Given the description of an element on the screen output the (x, y) to click on. 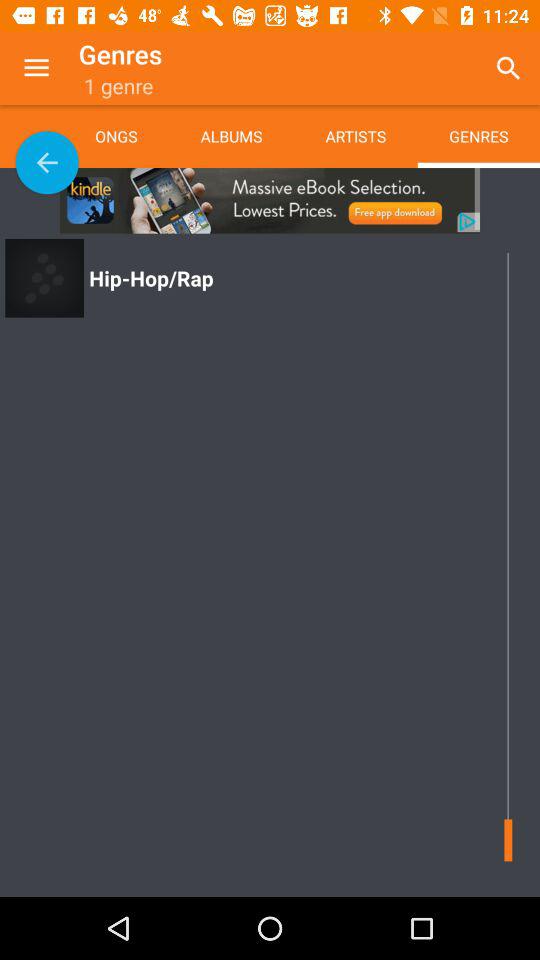
flip until the artists (355, 136)
